Given the description of an element on the screen output the (x, y) to click on. 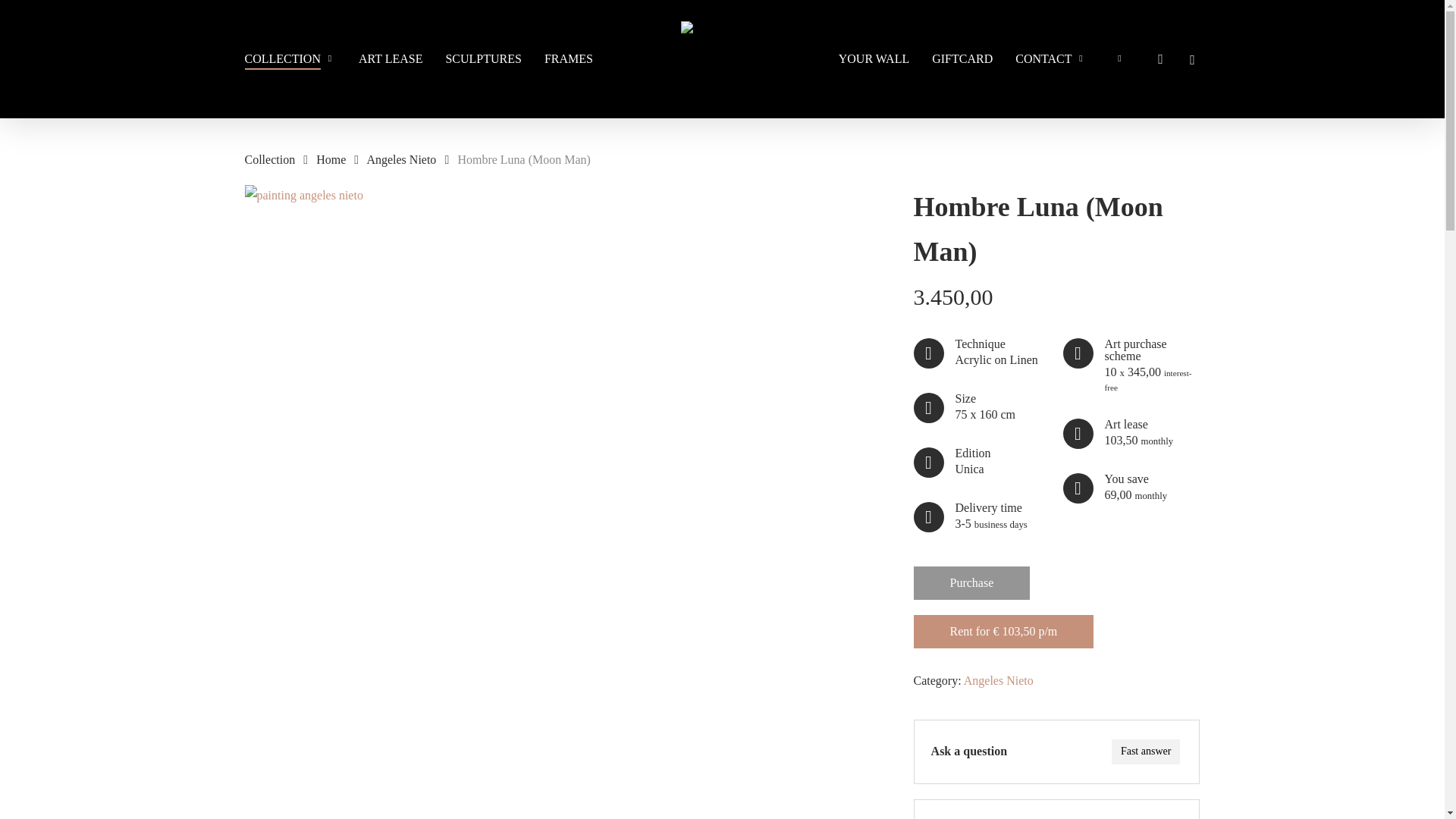
COLLECTION (289, 58)
